Given the description of an element on the screen output the (x, y) to click on. 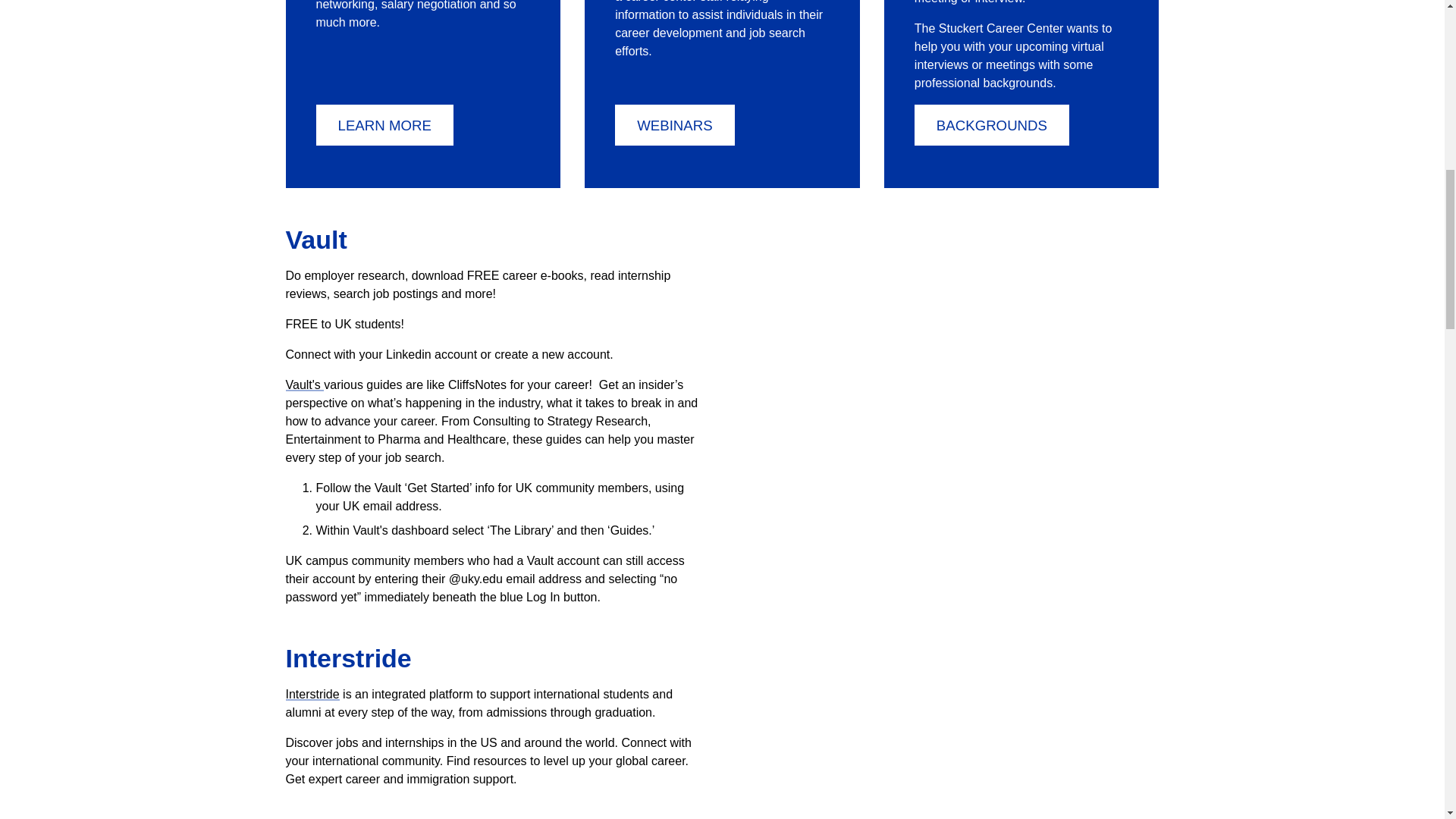
Vault's  (304, 384)
LEARN MORE (383, 124)
WEBINARS (674, 124)
Interstride (312, 694)
BACKGROUNDS (991, 124)
